Given the description of an element on the screen output the (x, y) to click on. 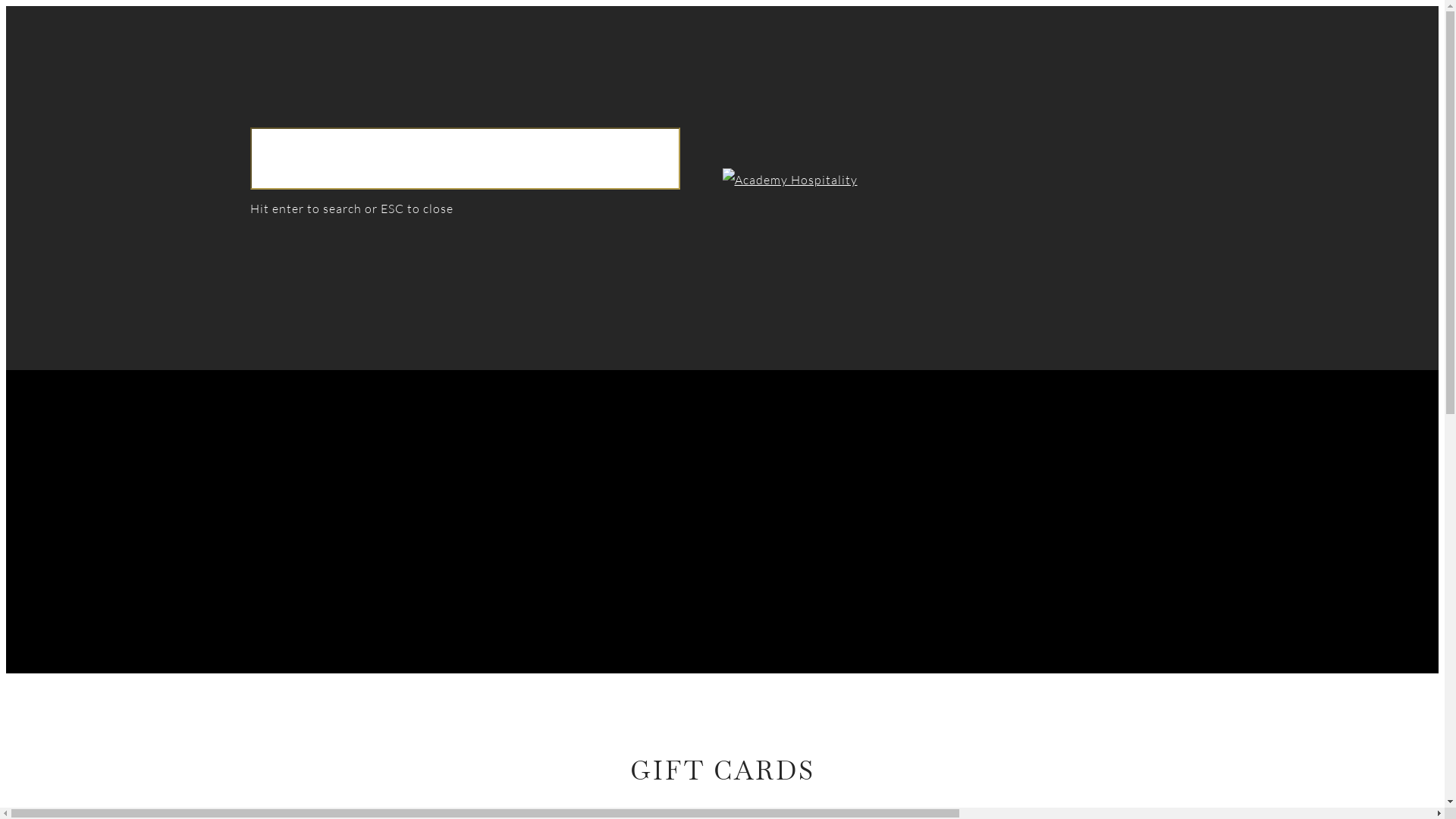
Skip to main content Element type: text (5, 5)
